Given the description of an element on the screen output the (x, y) to click on. 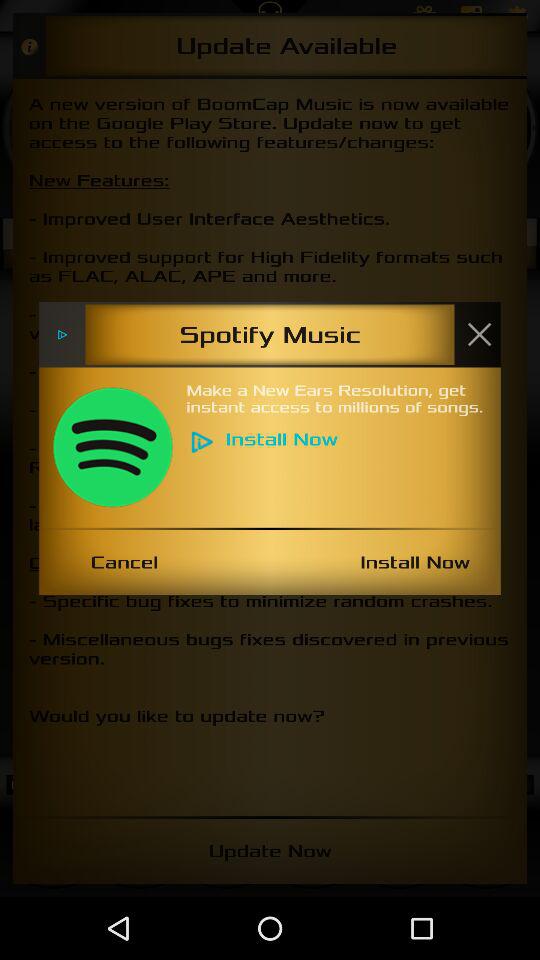
close (479, 334)
